Given the description of an element on the screen output the (x, y) to click on. 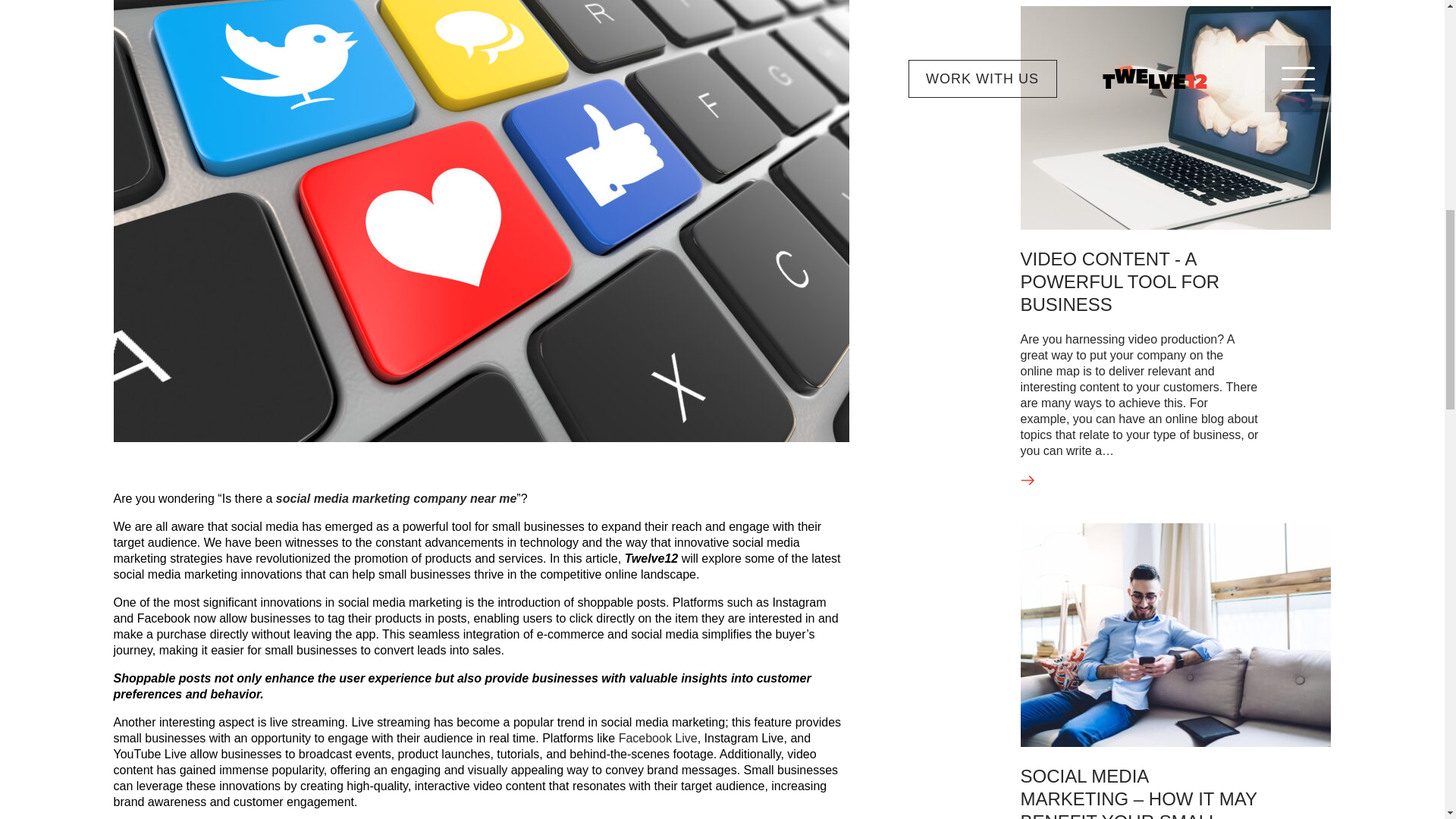
social media marketing company near me (396, 498)
Facebook Live (657, 738)
